Given the description of an element on the screen output the (x, y) to click on. 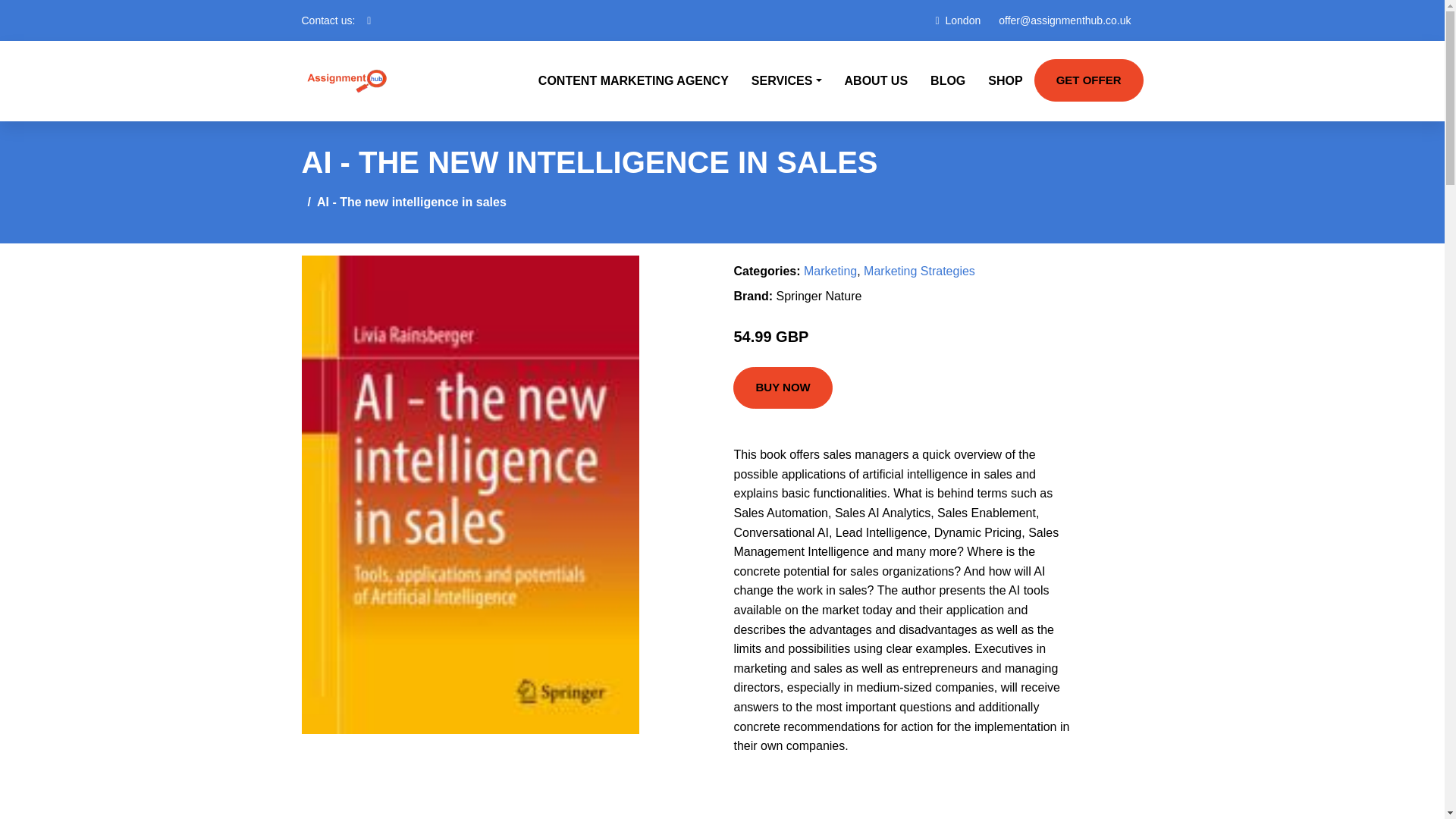
GET OFFER (1087, 79)
SERVICES (785, 80)
BUY NOW (782, 387)
CONTENT MARKETING AGENCY (633, 80)
BLOG (947, 80)
London (963, 20)
Marketing Strategies (919, 270)
ABOUT US (876, 80)
SHOP (1004, 80)
Marketing (830, 270)
